Given the description of an element on the screen output the (x, y) to click on. 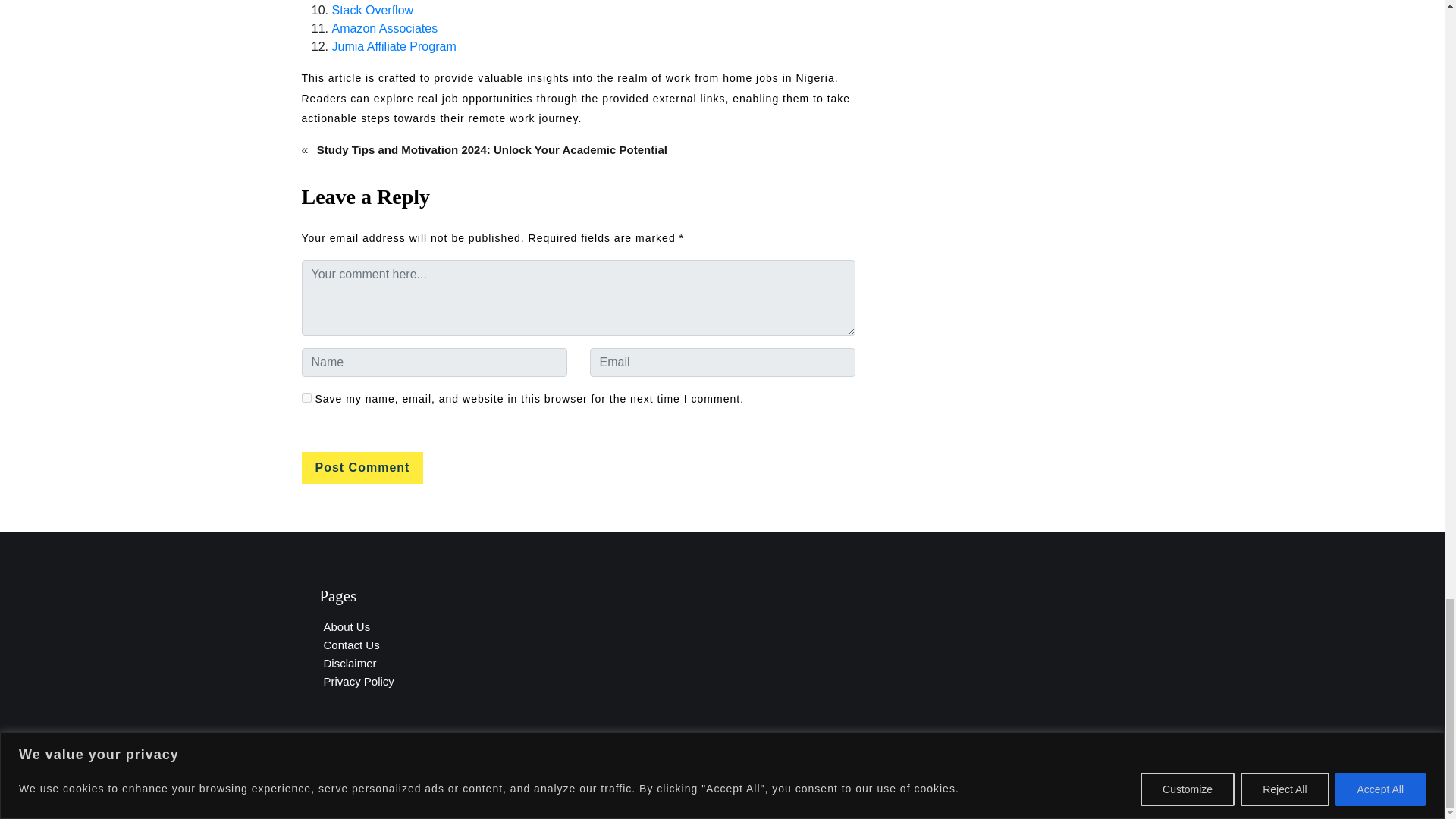
yes (306, 397)
Post Comment (362, 468)
